Given the description of an element on the screen output the (x, y) to click on. 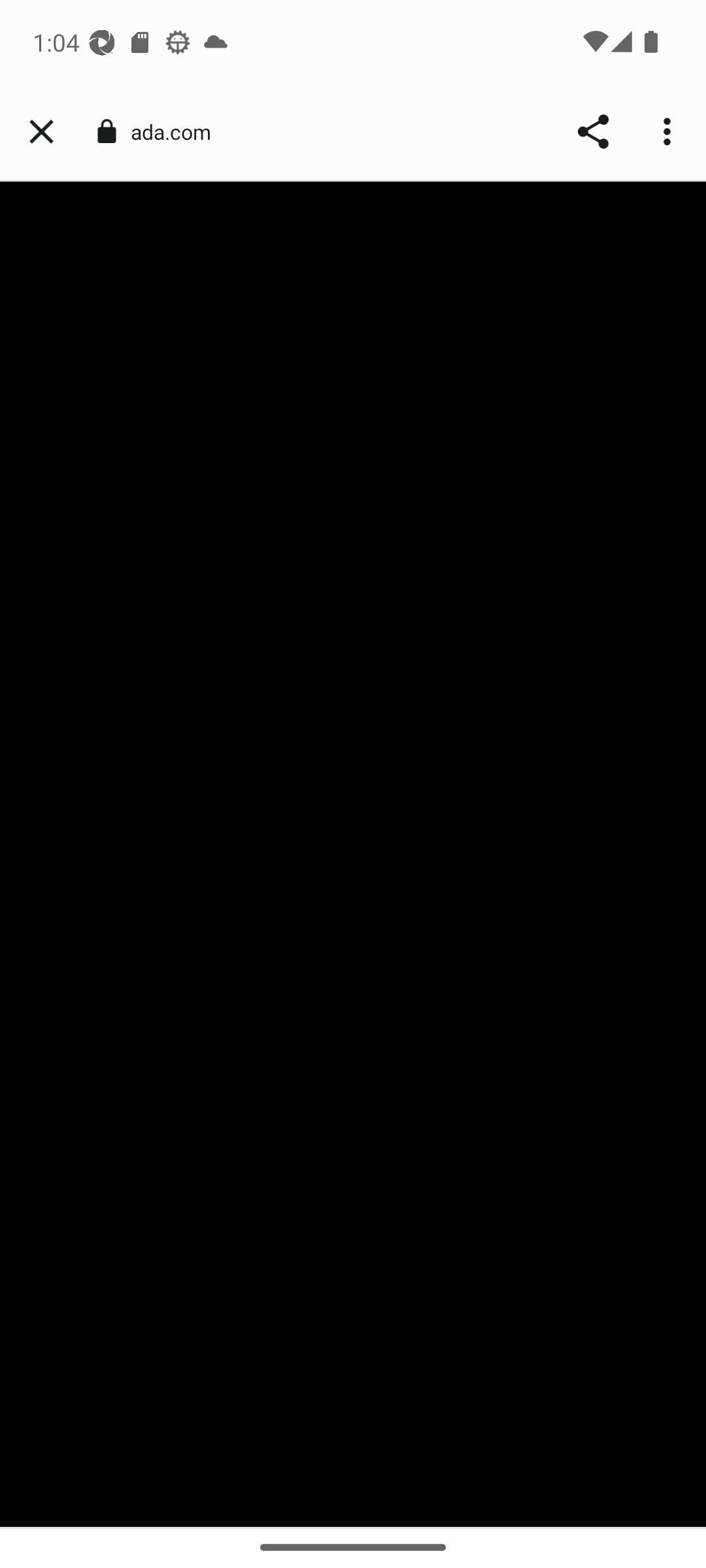
Close tab (41, 131)
Share (592, 131)
More options (669, 131)
Connection is secure (106, 131)
ada.com (177, 131)
